Given the description of an element on the screen output the (x, y) to click on. 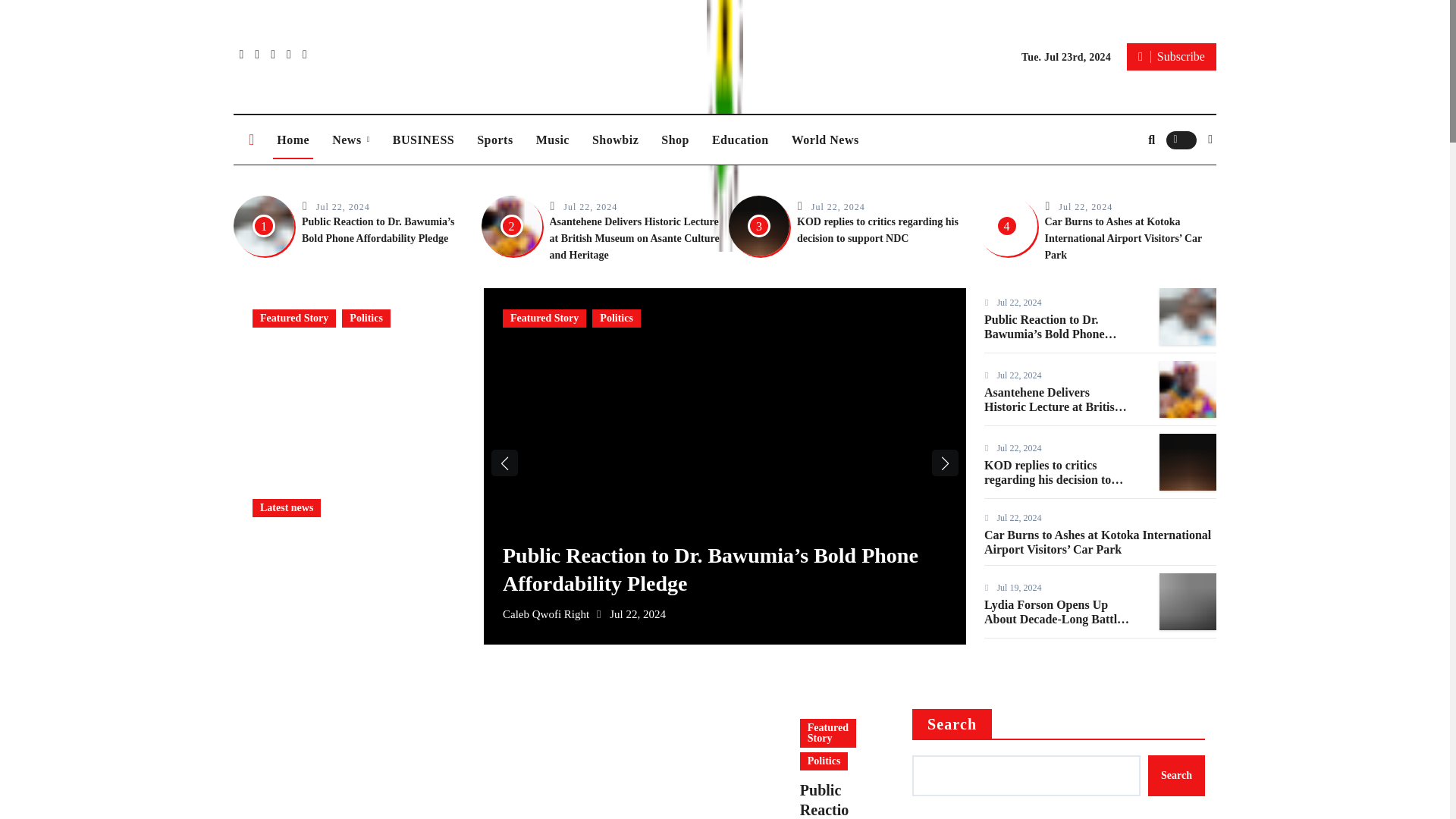
News (350, 139)
News (350, 139)
Showbiz (614, 139)
Sports (494, 139)
Education (740, 139)
Shop (674, 139)
Music (552, 139)
Music (552, 139)
Showbiz (614, 139)
Education (740, 139)
World News (825, 139)
Home (292, 139)
Subscribe (1170, 56)
Shop (674, 139)
BUSINESS (423, 139)
